Given the description of an element on the screen output the (x, y) to click on. 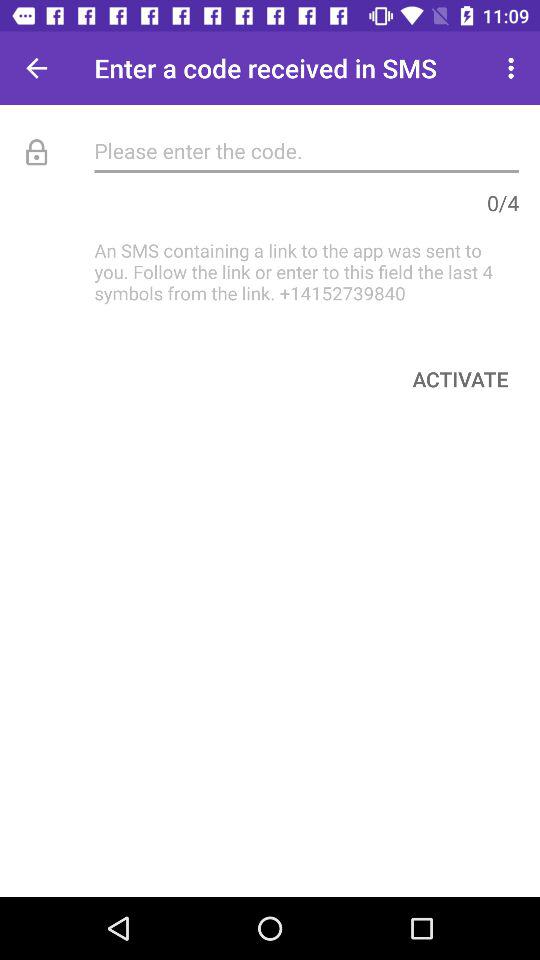
go back in the app wamba (36, 68)
